Given the description of an element on the screen output the (x, y) to click on. 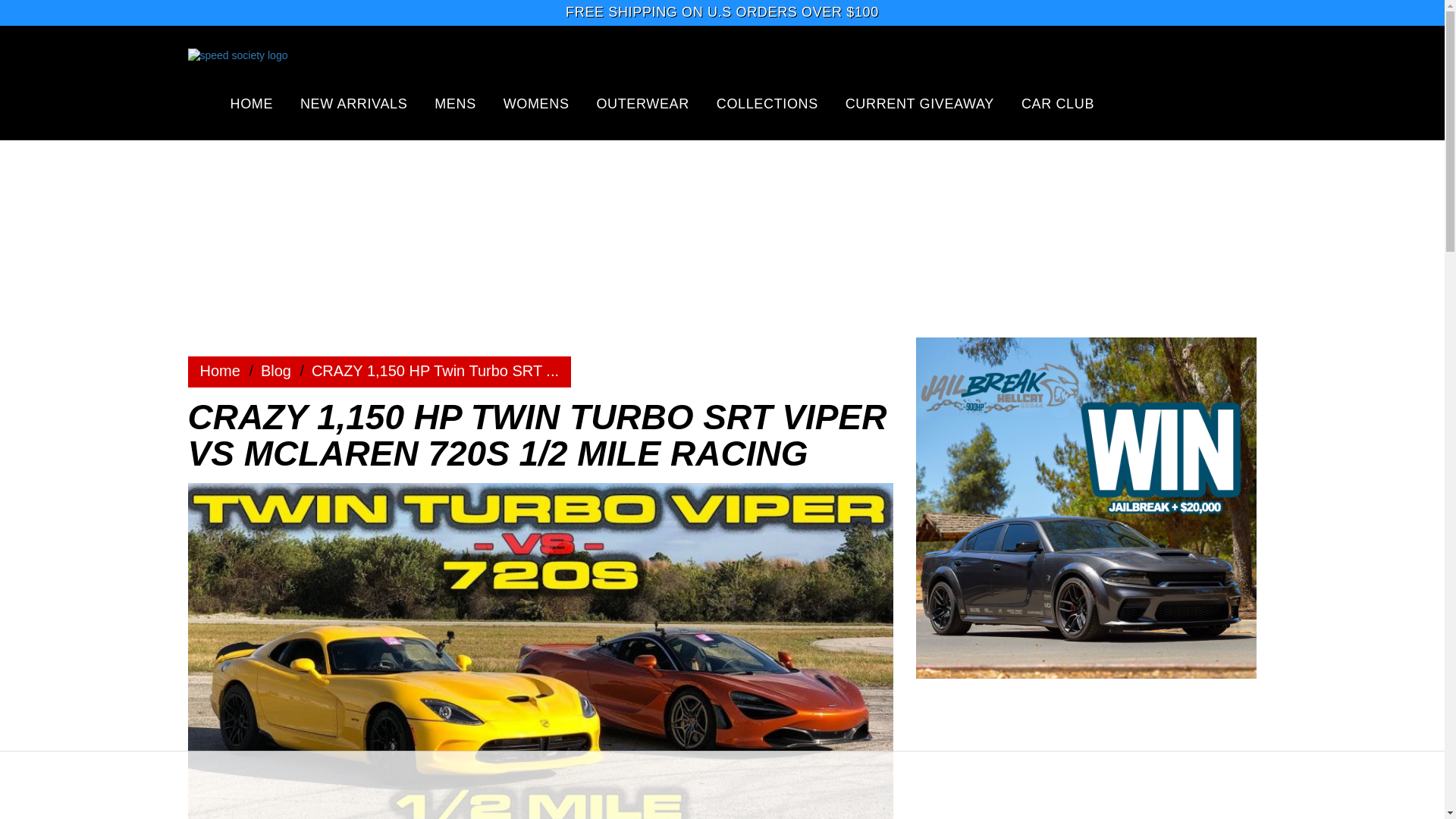
WOMENS (536, 103)
CAR CLUB (1058, 103)
Home (275, 370)
CURRENT GIVEAWAY (919, 103)
Home (220, 370)
CRAZY 1,150 HP Twin Turbo SRT ... (435, 370)
Blog (275, 370)
speed society logo (308, 69)
MENS (454, 103)
Home (220, 370)
